Given the description of an element on the screen output the (x, y) to click on. 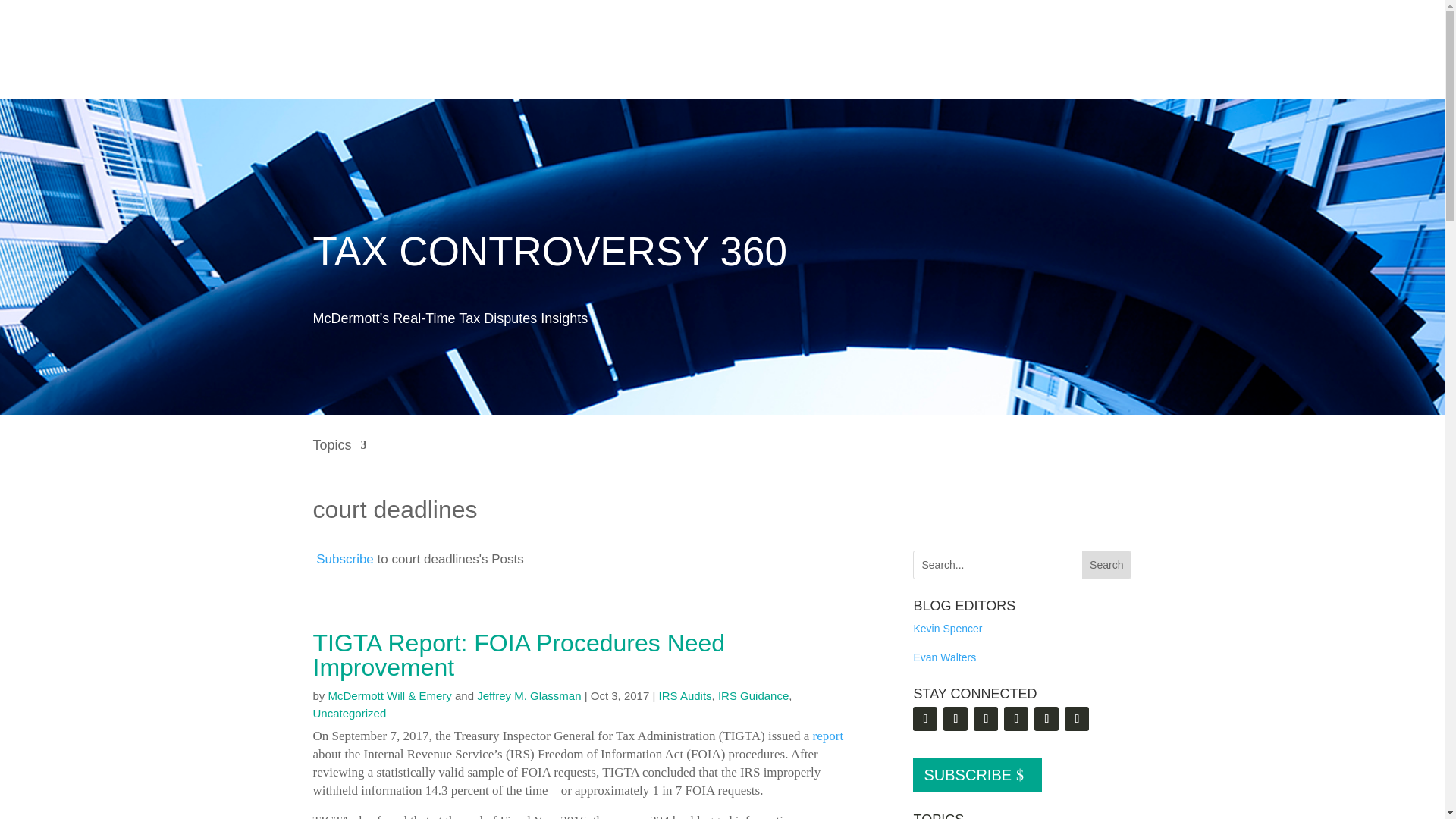
IRS Audits (685, 695)
Jeffrey M. Glassman (528, 695)
Posts by Jeffrey M. Glassman (528, 695)
Search (1106, 564)
Follow on LinkedIn (955, 718)
Search (1106, 564)
Follow on X (985, 718)
Topics (339, 455)
Subscribe (342, 559)
TIGTA Report: FOIA Procedures Need Improvement (519, 654)
Follow on RSS (342, 559)
Follow on RSS (924, 718)
